Given the description of an element on the screen output the (x, y) to click on. 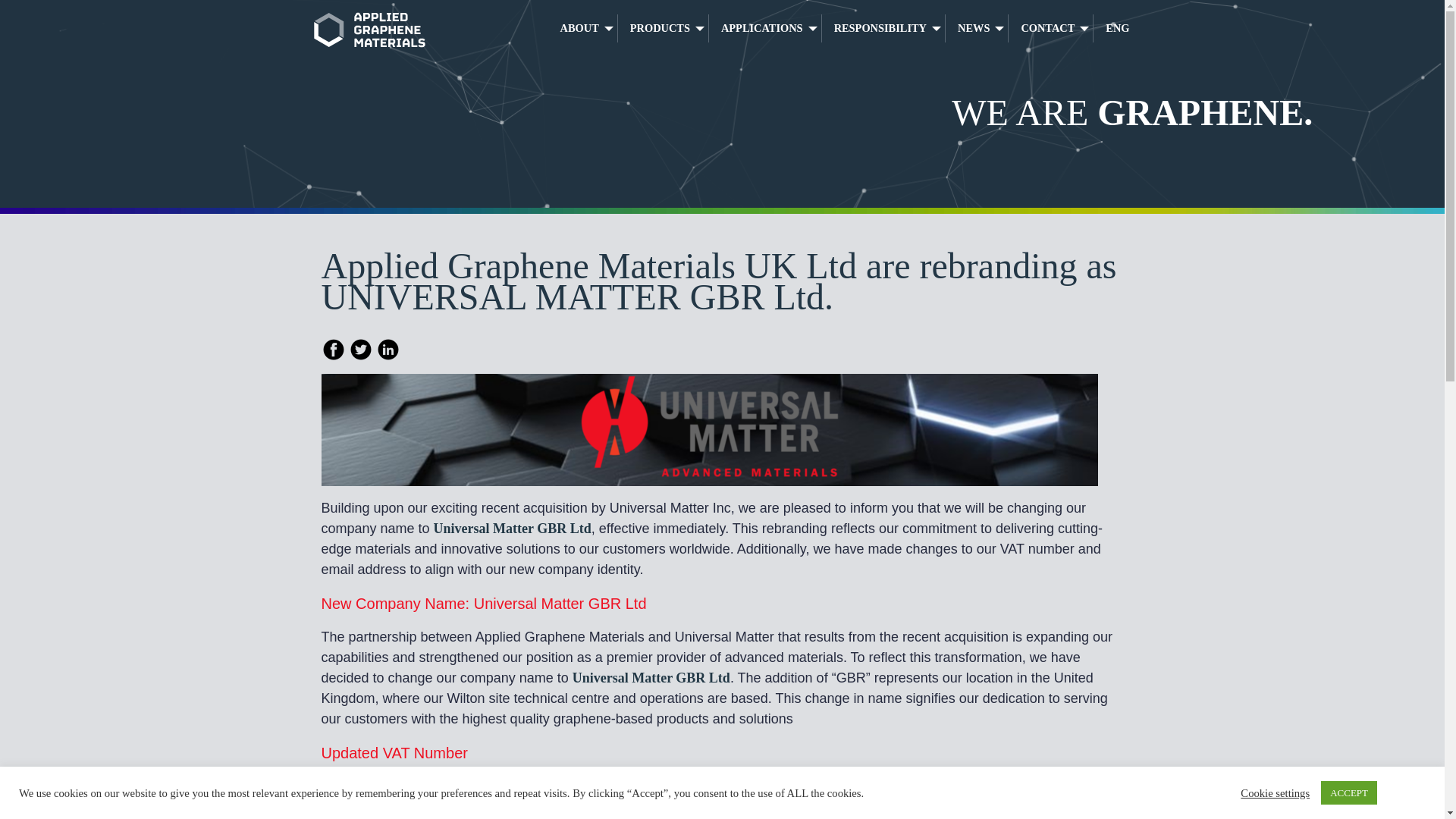
NEWS (975, 28)
CONTACT (1051, 28)
ENG (1111, 28)
ABOUT (582, 28)
RESPONSIBILITY (883, 28)
APPLICATIONS (765, 28)
PRODUCTS (662, 28)
